Given the description of an element on the screen output the (x, y) to click on. 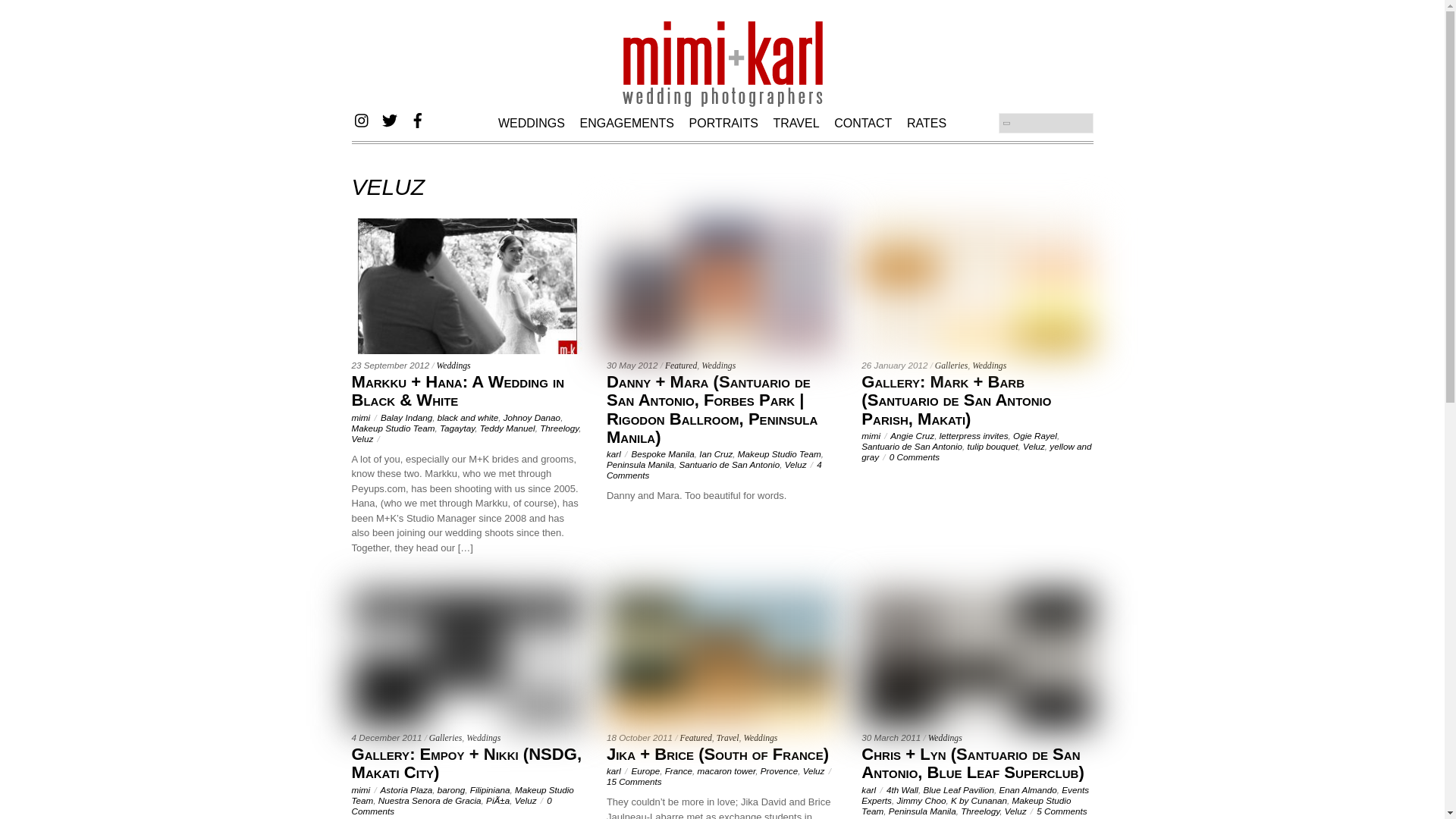
mimi (870, 435)
Galleries (951, 366)
TRAVEL (796, 121)
Makeup Studio Team (393, 428)
Teddy Manuel (507, 428)
karl (614, 453)
Makeup Studio Team (779, 453)
black and white (468, 417)
Weddings (453, 366)
Angie Cruz (911, 435)
Tagaytay (456, 428)
PORTRAITS (723, 121)
Peninsula Manila (640, 464)
ENGAGEMENTS (625, 121)
CONTACT (862, 121)
